Given the description of an element on the screen output the (x, y) to click on. 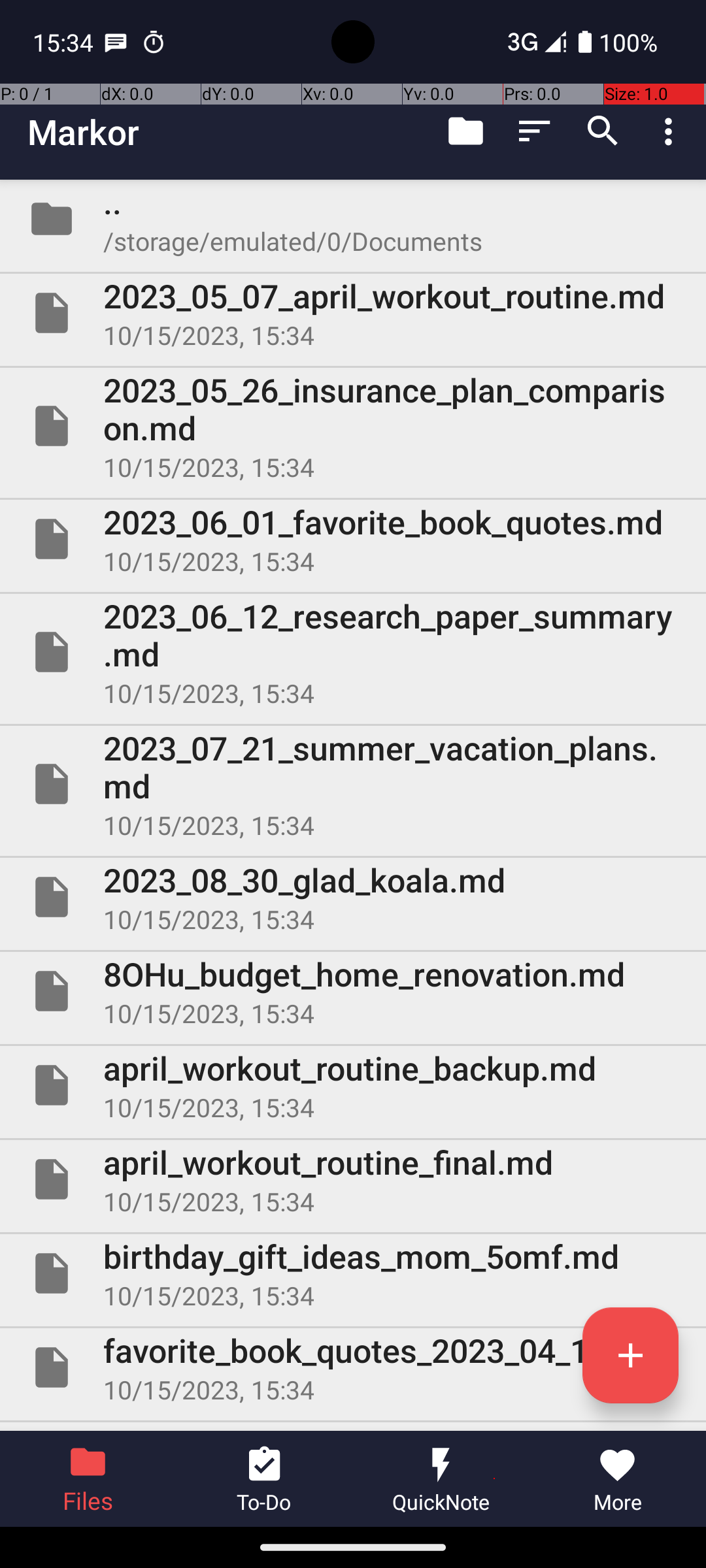
File 2023_05_07_april_workout_routine.md  Element type: android.widget.LinearLayout (353, 312)
File 2023_05_26_insurance_plan_comparison.md  Element type: android.widget.LinearLayout (353, 425)
File 2023_06_01_favorite_book_quotes.md  Element type: android.widget.LinearLayout (353, 538)
File 2023_06_12_research_paper_summary.md  Element type: android.widget.LinearLayout (353, 651)
File 2023_07_21_summer_vacation_plans.md  Element type: android.widget.LinearLayout (353, 783)
File 2023_08_30_glad_koala.md  Element type: android.widget.LinearLayout (353, 896)
File 8OHu_budget_home_renovation.md  Element type: android.widget.LinearLayout (353, 990)
File april_workout_routine_backup.md  Element type: android.widget.LinearLayout (353, 1084)
File april_workout_routine_final.md  Element type: android.widget.LinearLayout (353, 1179)
File birthday_gift_ideas_mom_5omf.md  Element type: android.widget.LinearLayout (353, 1273)
File favorite_book_quotes_2023_04_18.md  Element type: android.widget.LinearLayout (353, 1367)
File favorite_book_quotes_DE5r.md  Element type: android.widget.LinearLayout (353, 1426)
